Given the description of an element on the screen output the (x, y) to click on. 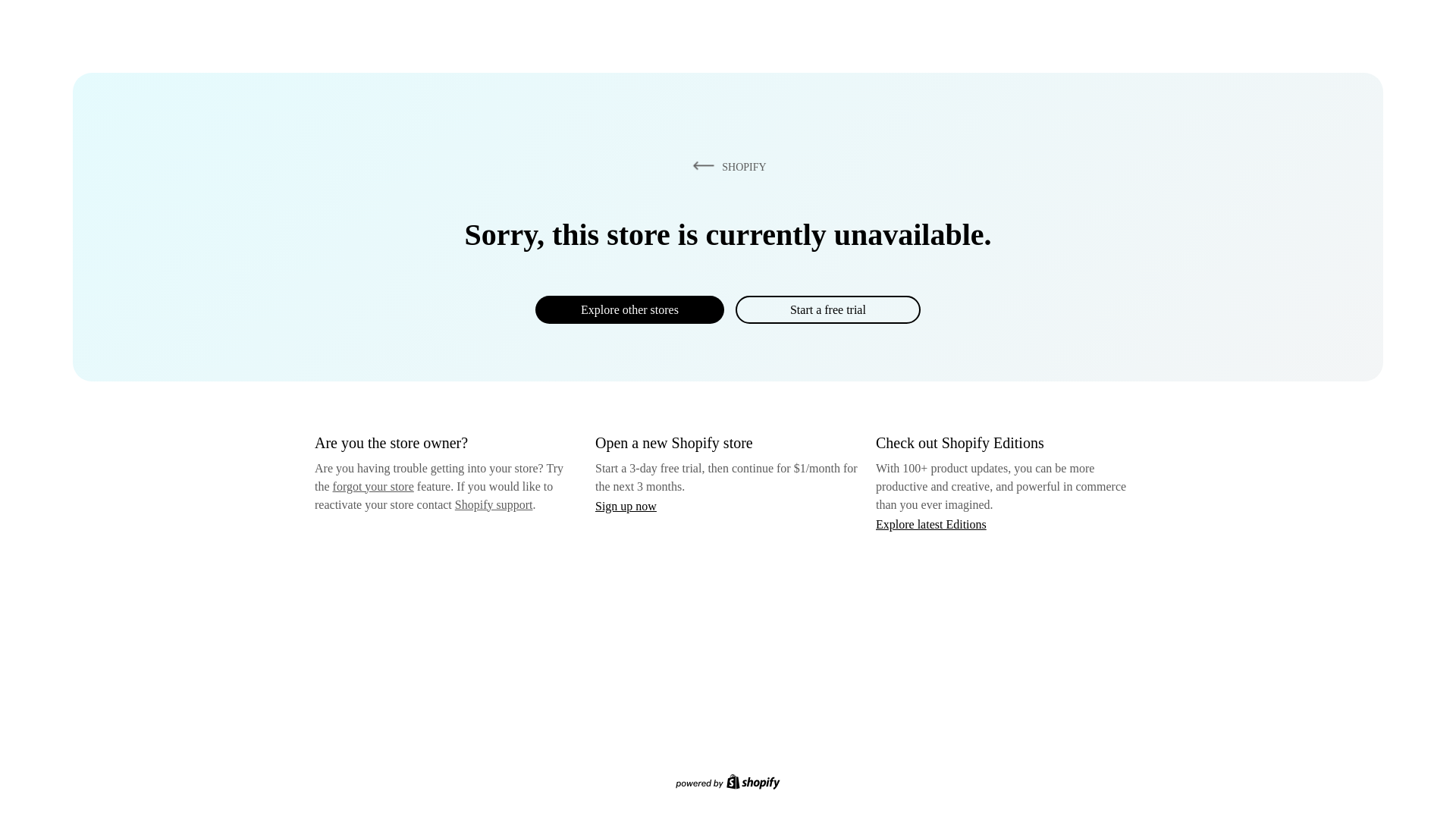
Start a free trial (827, 309)
forgot your store (373, 486)
Shopify support (493, 504)
SHOPIFY (726, 166)
Explore latest Editions (931, 523)
Sign up now (625, 505)
Explore other stores (629, 309)
